Given the description of an element on the screen output the (x, y) to click on. 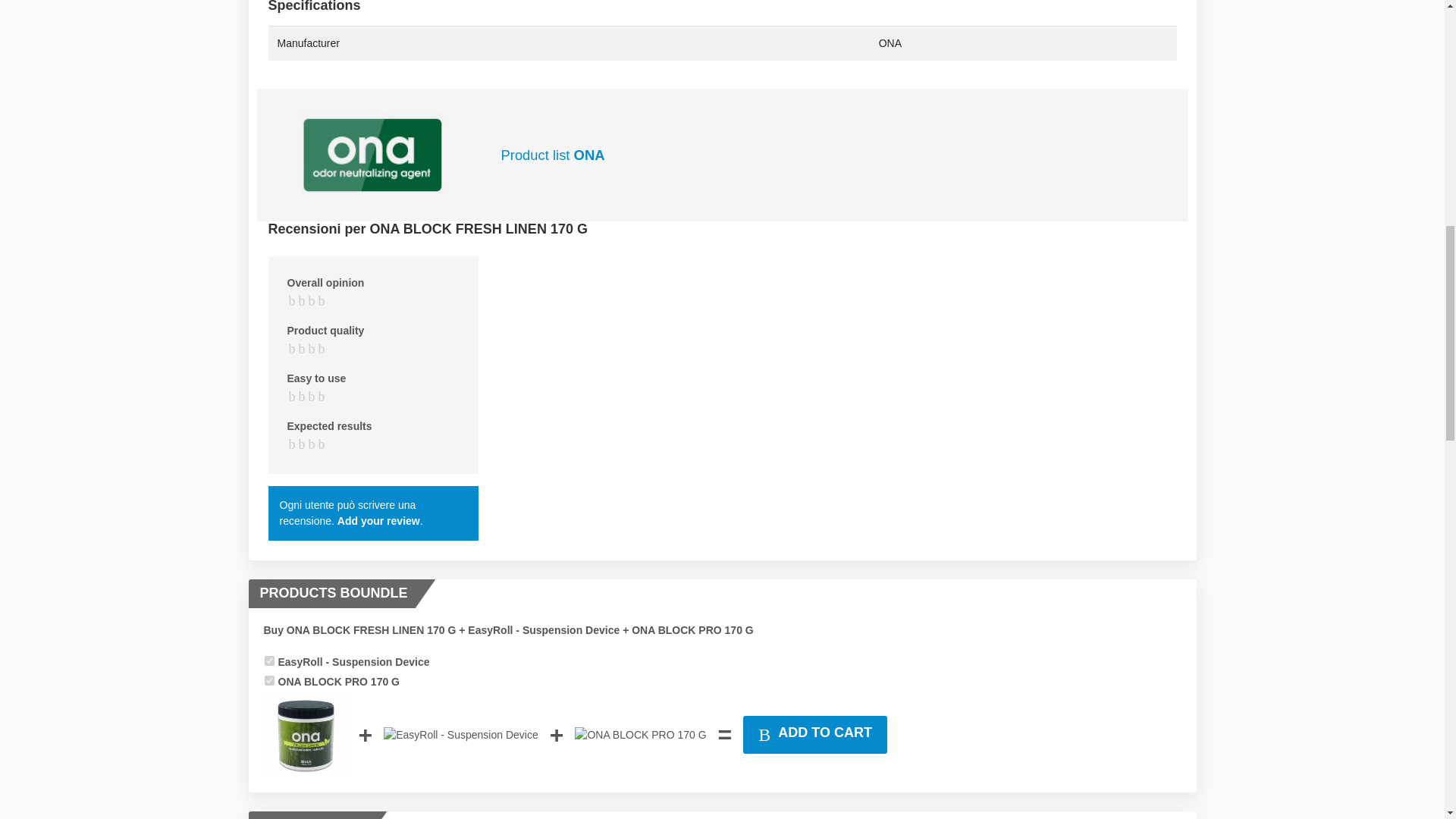
1148 (268, 660)
9373 (268, 680)
